Given the description of an element on the screen output the (x, y) to click on. 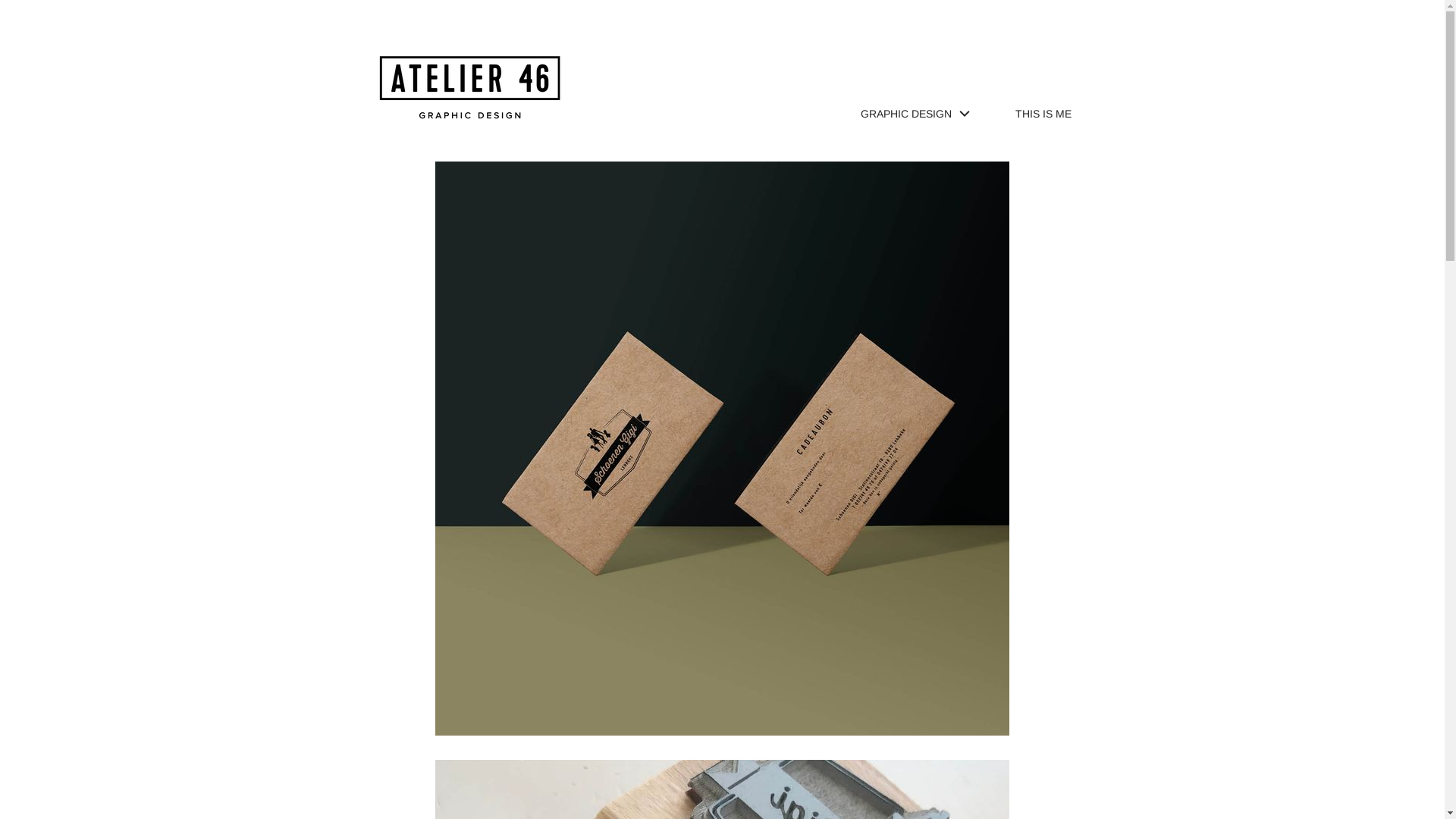
THIS IS ME Element type: text (1042, 112)
GRAPHIC DESIGN Element type: text (914, 112)
